Given the description of an element on the screen output the (x, y) to click on. 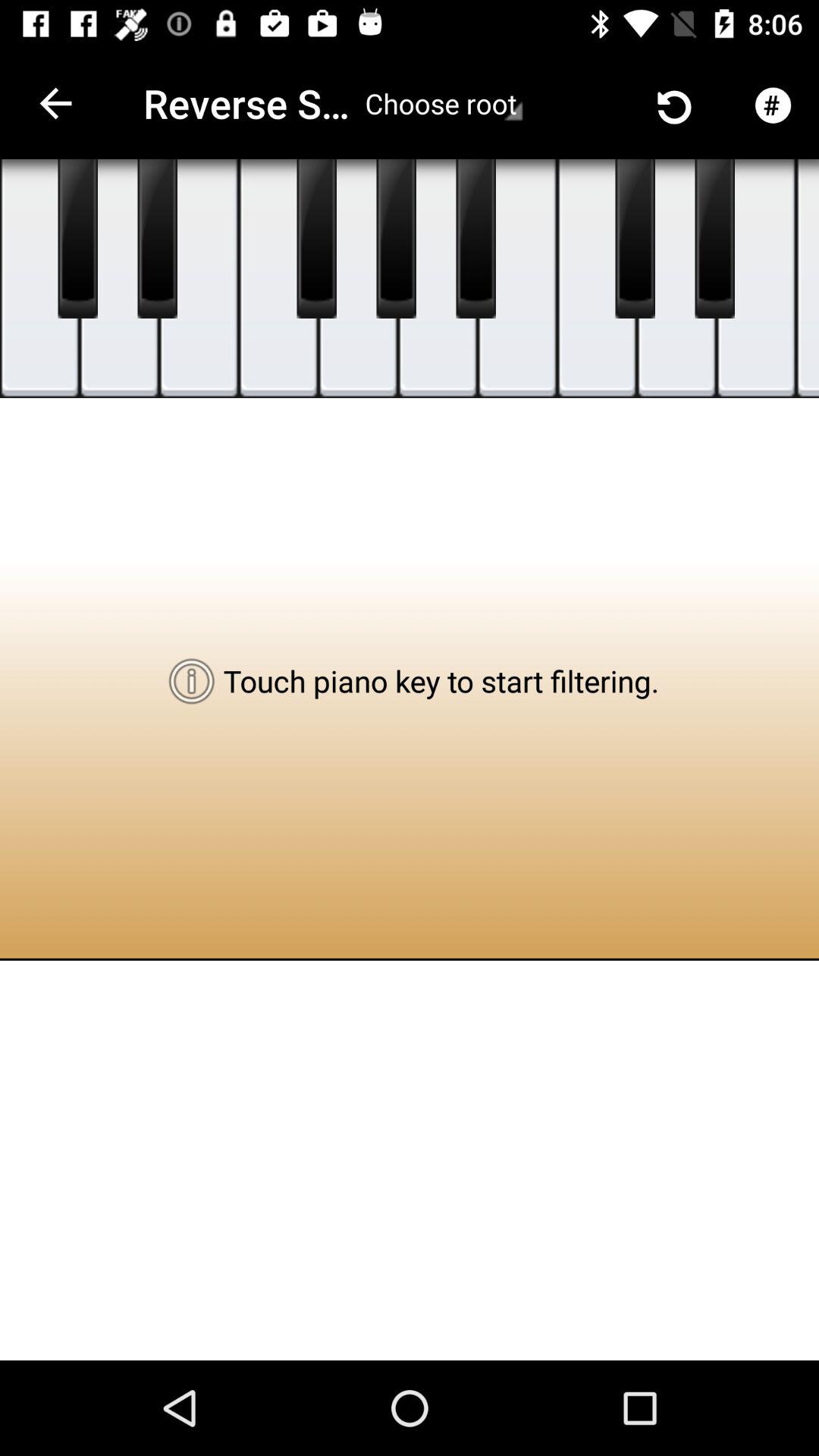
play piano key (157, 238)
